Given the description of an element on the screen output the (x, y) to click on. 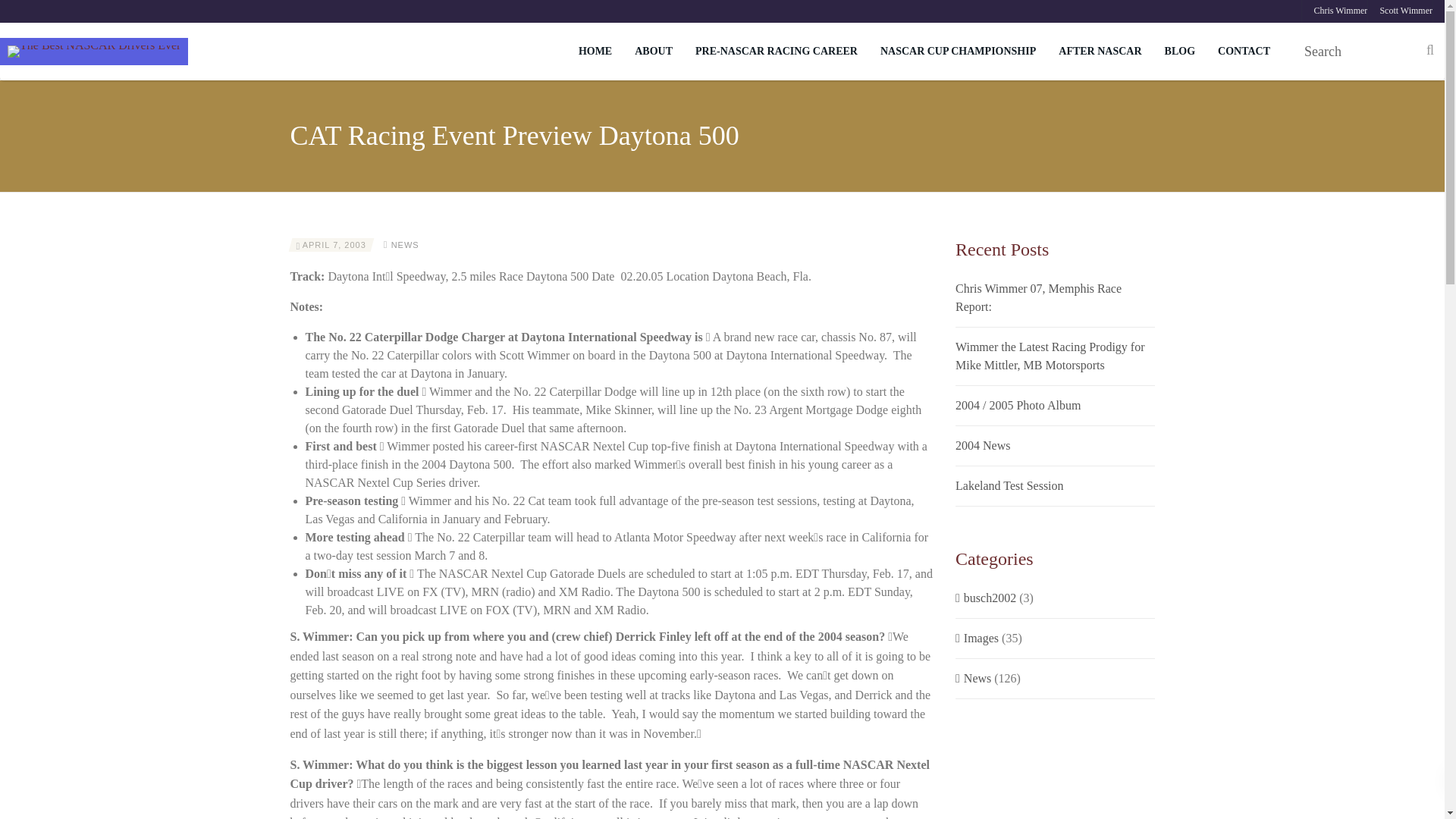
Chris Wimmer 07, Memphis Race Report: (1054, 298)
Chris Wimmer (1334, 11)
NEWS (405, 244)
CONTACT (1243, 51)
NASCAR CUP CHAMPIONSHIP (957, 51)
Scott Wimmer (1399, 11)
PRE-NASCAR RACING CAREER (776, 51)
AFTER NASCAR (1099, 51)
